Given the description of an element on the screen output the (x, y) to click on. 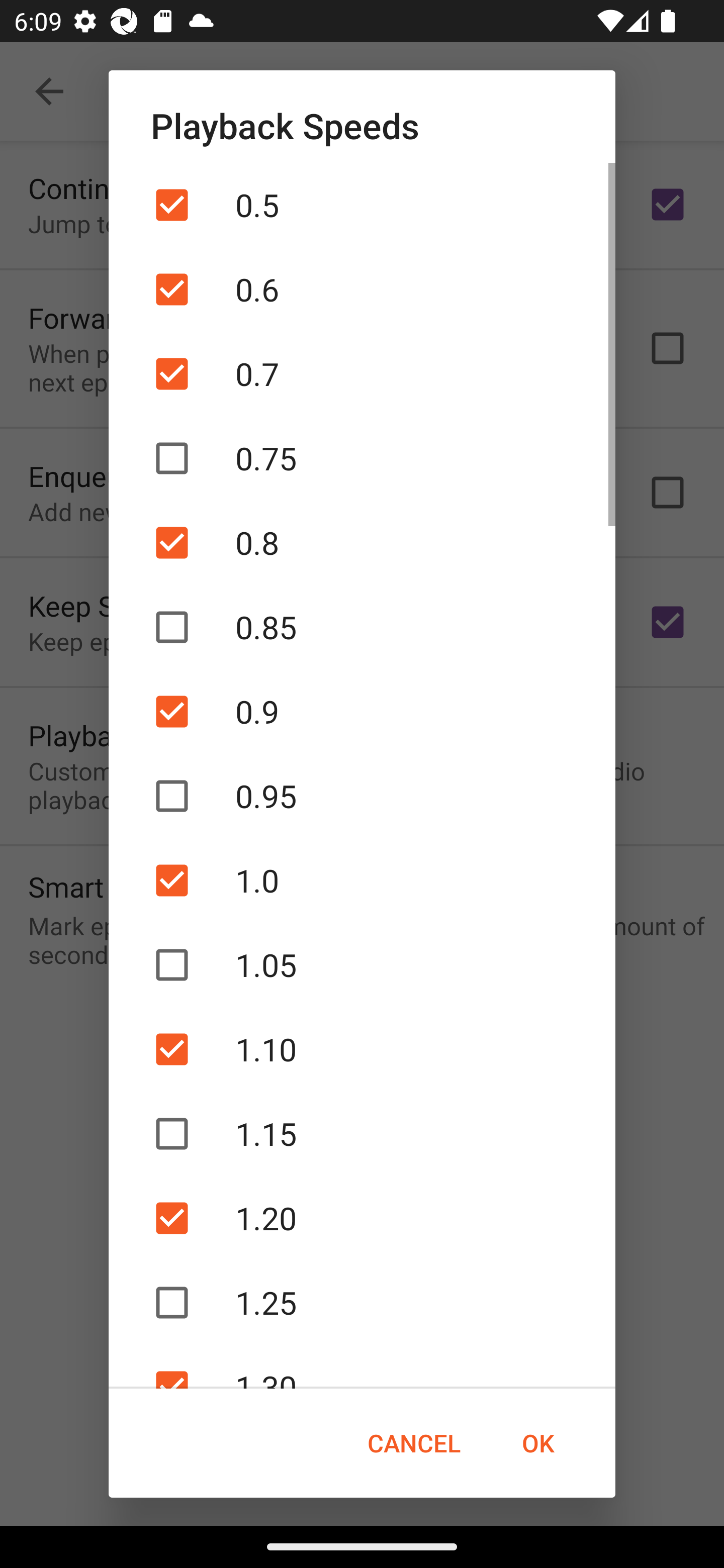
0.5 (361, 205)
0.6 (361, 289)
0.7 (361, 373)
0.75 (361, 457)
0.8 (361, 542)
0.85 (361, 626)
0.9 (361, 711)
0.95 (361, 796)
1.0 (361, 879)
1.05 (361, 963)
1.10 (361, 1048)
1.15 (361, 1133)
1.20 (361, 1218)
1.25 (361, 1302)
CANCEL (413, 1443)
OK (537, 1443)
